Given the description of an element on the screen output the (x, y) to click on. 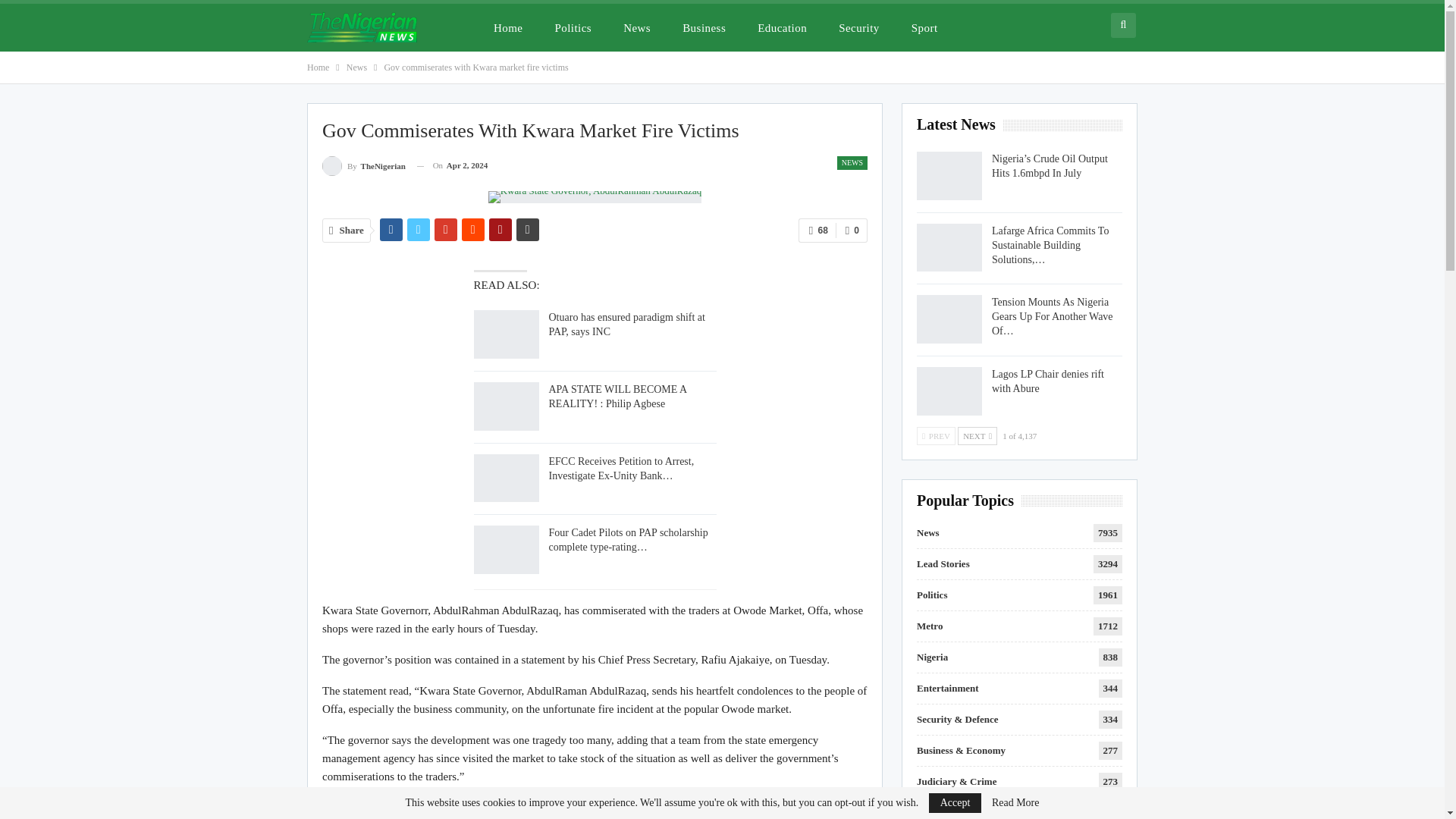
Otuaro has ensured paradigm shift at PAP, says INC (626, 324)
Business (703, 27)
Home (318, 67)
0 (851, 230)
Otuaro has ensured paradigm shift at PAP, says INC (505, 334)
News (356, 67)
Education (781, 27)
News (636, 27)
Home (508, 27)
Sport (924, 27)
APA STATE WILL BECOME A REALITY! : Philip Agbese (617, 396)
By TheNigerian (363, 165)
Politics (572, 27)
